Given the description of an element on the screen output the (x, y) to click on. 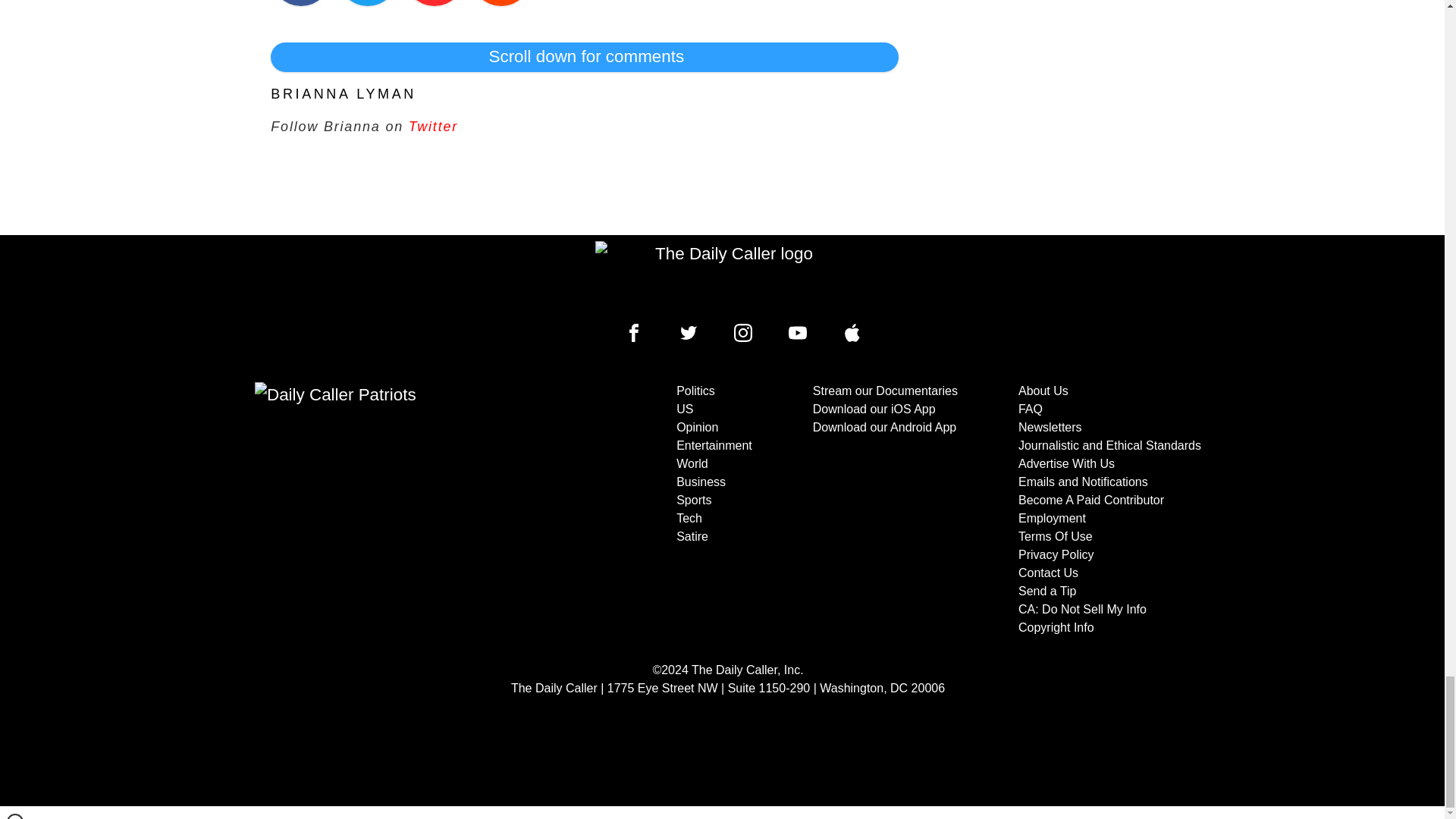
Daily Caller YouTube (797, 332)
Daily Caller Instagram (742, 332)
Daily Caller YouTube (852, 332)
Daily Caller Twitter (688, 332)
To home page (727, 276)
Subscribe to The Daily Caller (405, 509)
Scroll down for comments (584, 56)
Daily Caller Facebook (633, 332)
